Given the description of an element on the screen output the (x, y) to click on. 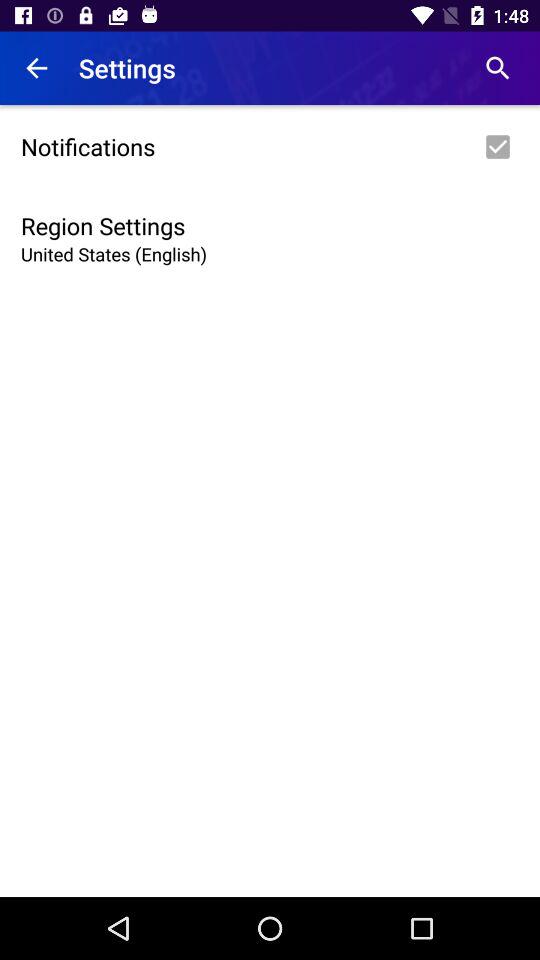
press the item to the right of the settings app (497, 67)
